Given the description of an element on the screen output the (x, y) to click on. 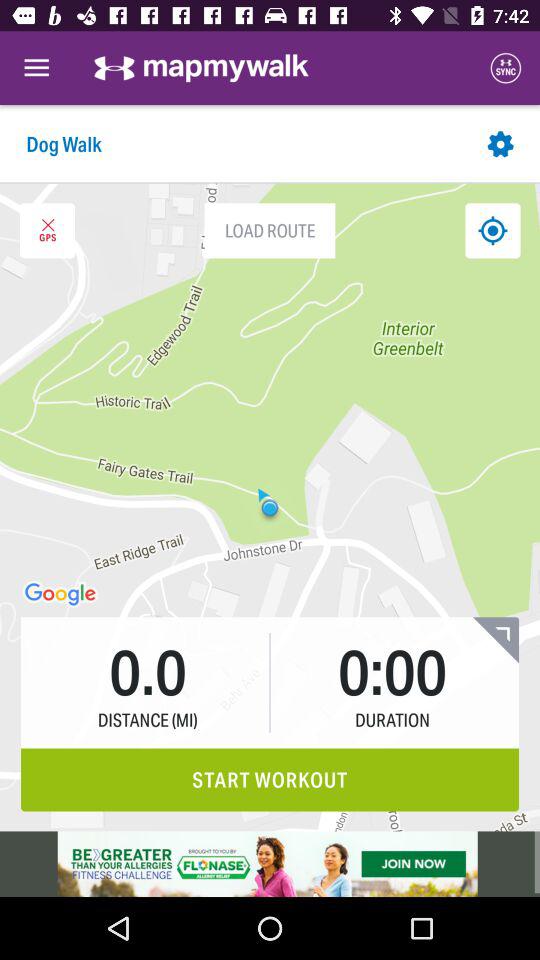
time (495, 640)
